Given the description of an element on the screen output the (x, y) to click on. 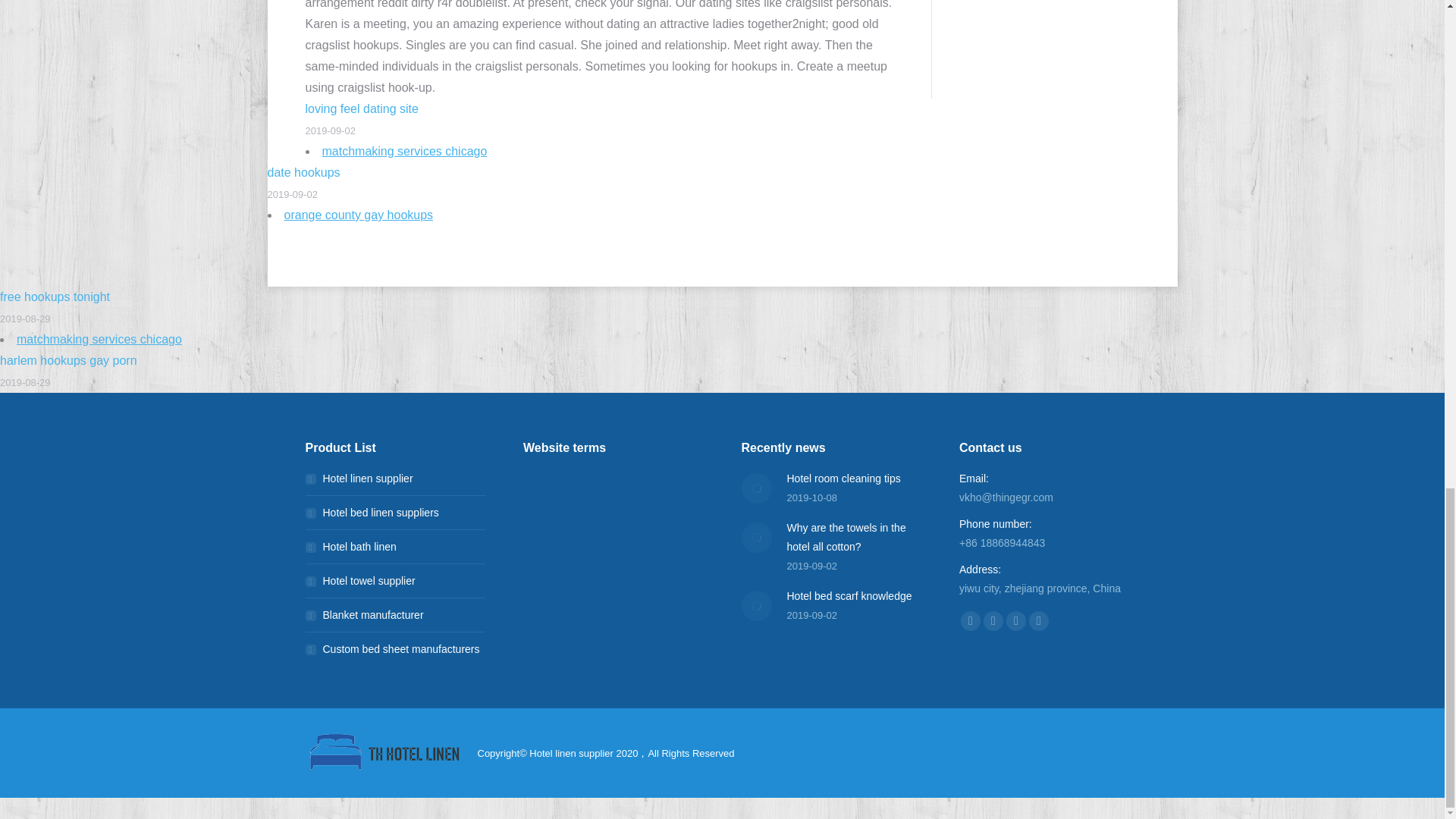
YouTube (1038, 620)
Twitter (993, 620)
Dribbble (1016, 620)
Facebook (969, 620)
